Given the description of an element on the screen output the (x, y) to click on. 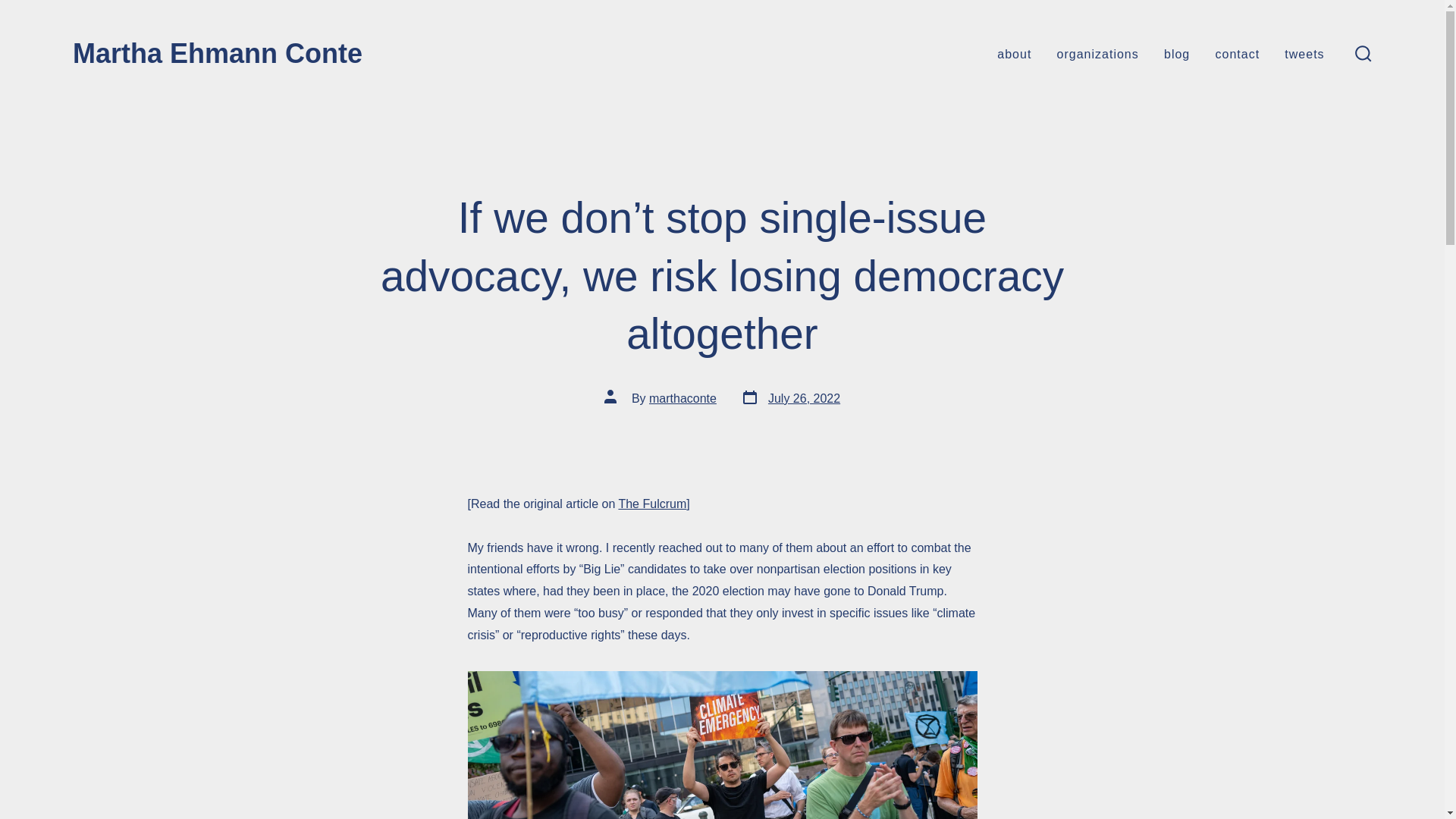
contact (1237, 55)
tweets (1303, 55)
marthaconte (790, 398)
search toggle (682, 398)
organizations (1362, 54)
Martha Ehmann Conte (1097, 55)
blog (217, 54)
The Fulcrum (1176, 55)
about (651, 503)
